Given the description of an element on the screen output the (x, y) to click on. 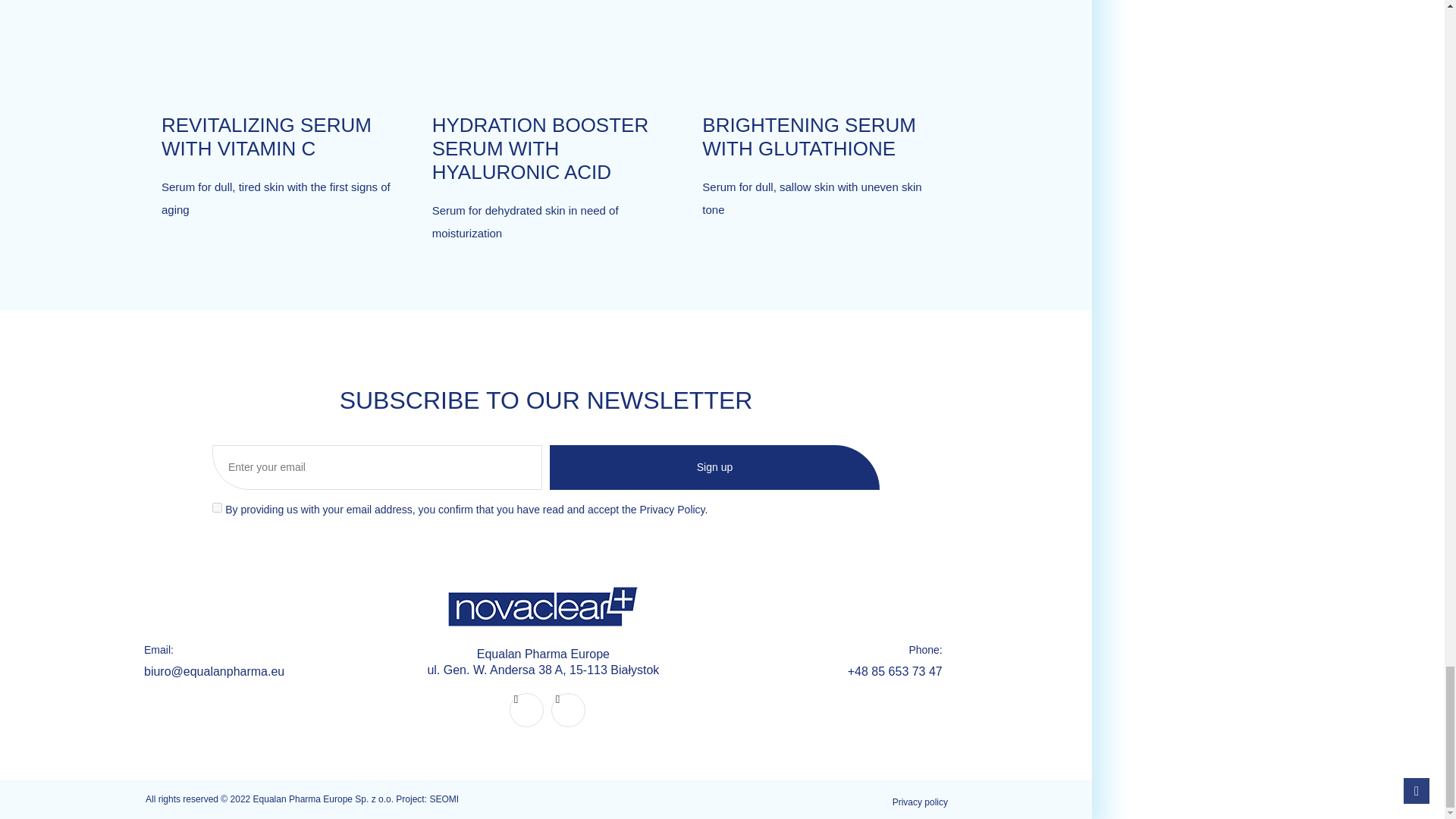
on (217, 507)
